Given the description of an element on the screen output the (x, y) to click on. 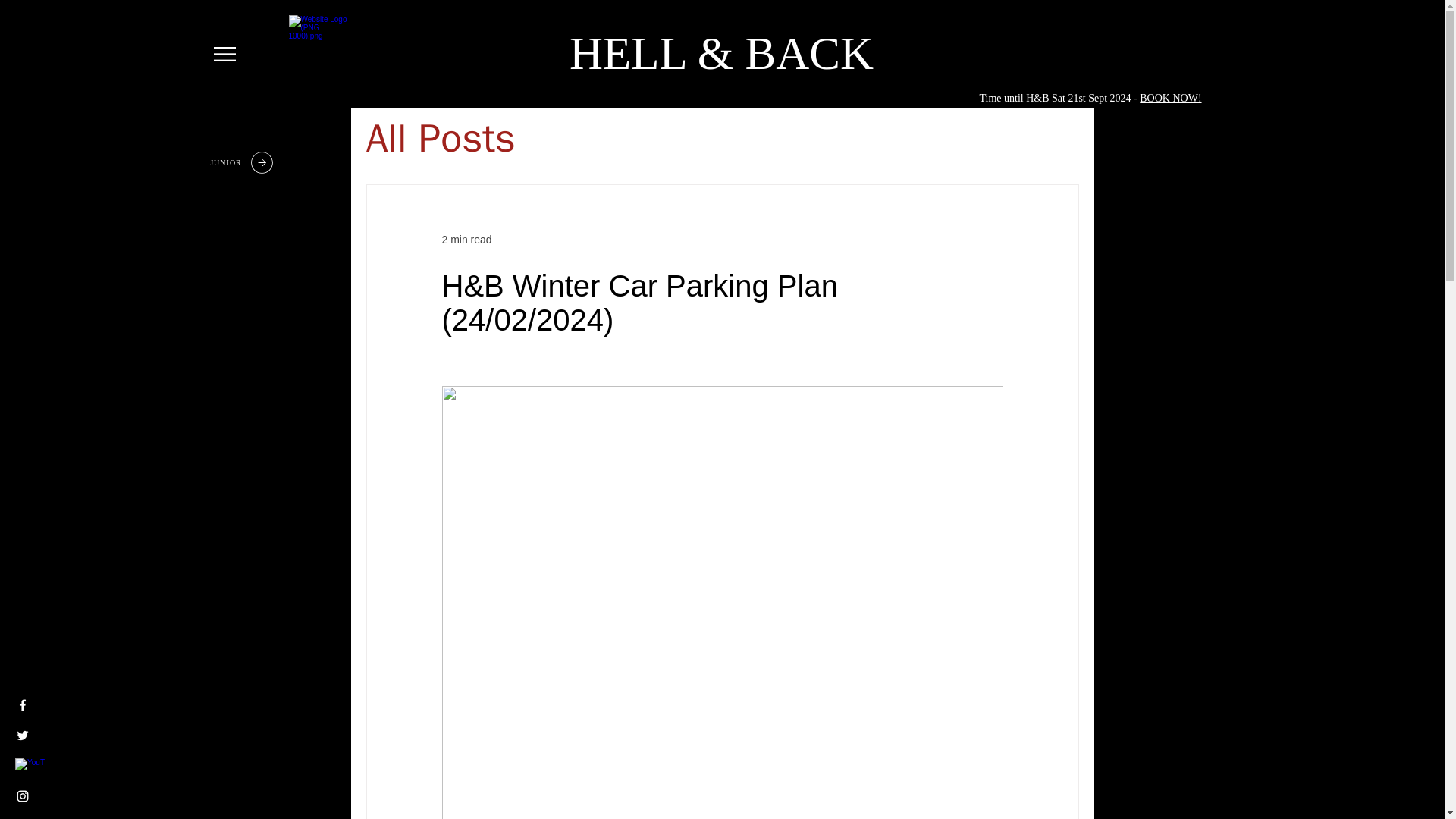
All Posts (440, 138)
JUNIOR (243, 162)
2 min read (466, 239)
BOOK NOW! (1170, 98)
